Given the description of an element on the screen output the (x, y) to click on. 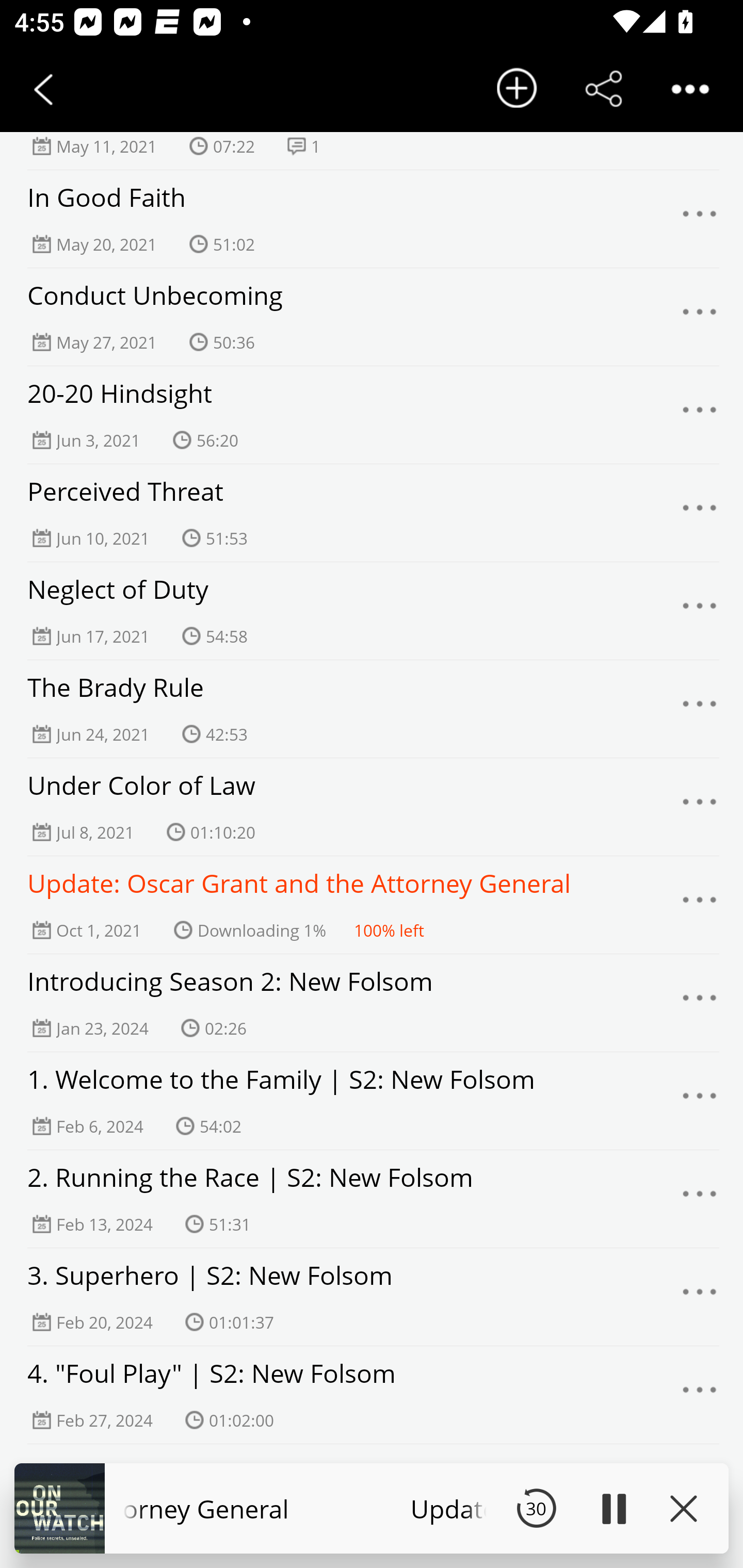
Back (43, 88)
In Good Faith May 20, 2021 51:02 Menu (371, 219)
Menu (699, 218)
Conduct Unbecoming May 27, 2021 50:36 Menu (371, 317)
Menu (699, 317)
20-20 Hindsight Jun 3, 2021 56:20 Menu (371, 415)
Menu (699, 414)
Perceived Threat Jun 10, 2021 51:53 Menu (371, 513)
Menu (699, 513)
Neglect of Duty Jun 17, 2021 54:58 Menu (371, 611)
Menu (699, 610)
The Brady Rule Jun 24, 2021 42:53 Menu (371, 709)
Menu (699, 709)
Under Color of Law Jul 8, 2021 01:10:20 Menu (371, 807)
Menu (699, 806)
Menu (699, 905)
Menu (699, 1002)
Menu (699, 1101)
Menu (699, 1198)
Menu (699, 1297)
Menu (699, 1394)
Play (613, 1507)
30 Seek Backward (536, 1508)
